Given the description of an element on the screen output the (x, y) to click on. 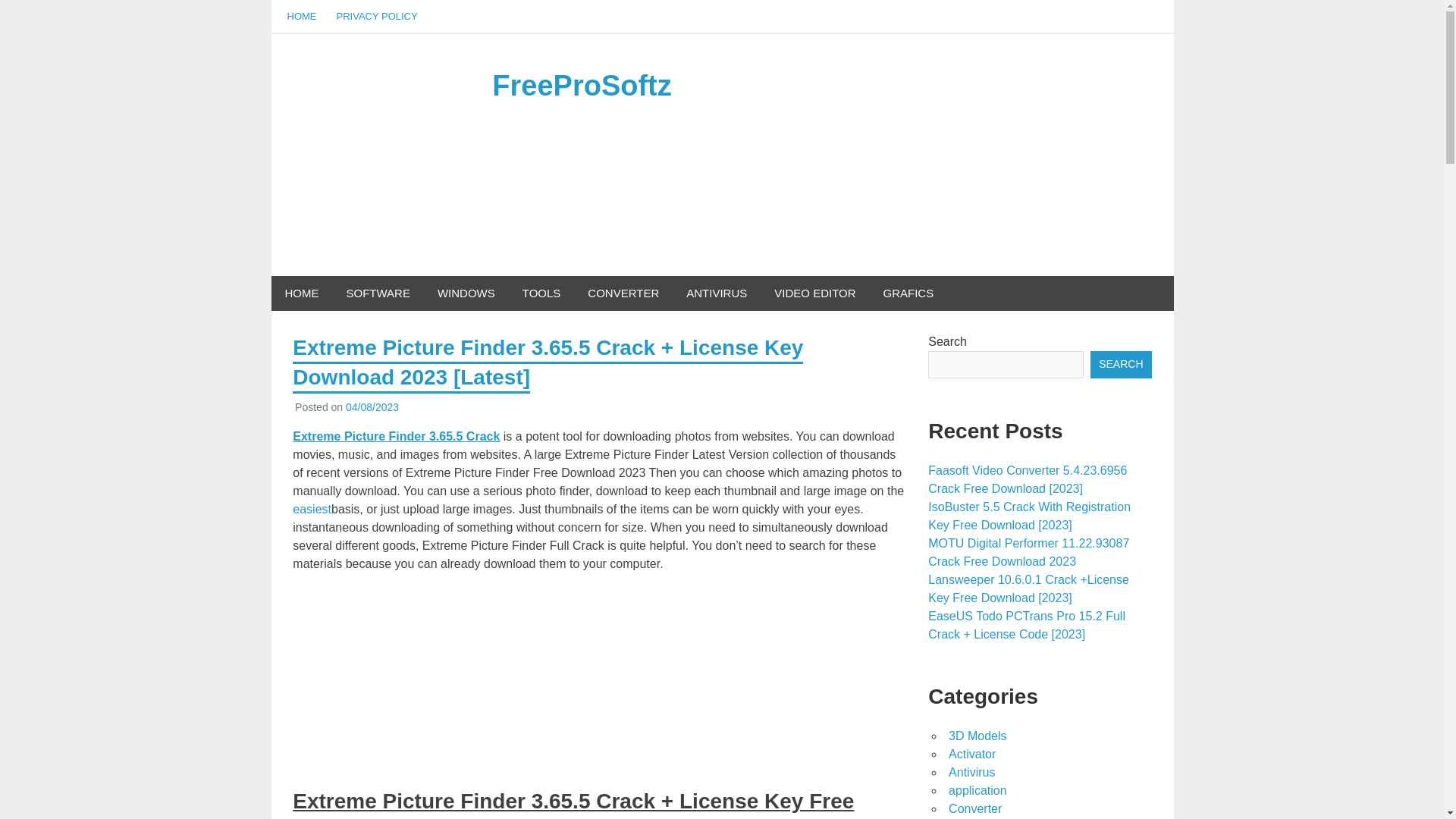
MOTU Digital Performer 11.22.93087 Crack Free Download 2023 (1028, 552)
easiest (311, 508)
Extreme Picture Finder 3.65.5 Crack (397, 436)
FreeProSoftz (581, 85)
CONVERTER (622, 294)
SEARCH (1120, 364)
PRIVACY POLICY (376, 16)
SOFTWARE (377, 294)
TOOLS (541, 294)
9:07 am (372, 407)
Activator (972, 753)
ANTIVIRUS (716, 294)
Converter (975, 808)
3D Models (977, 735)
VIDEO EDITOR (814, 294)
